Given the description of an element on the screen output the (x, y) to click on. 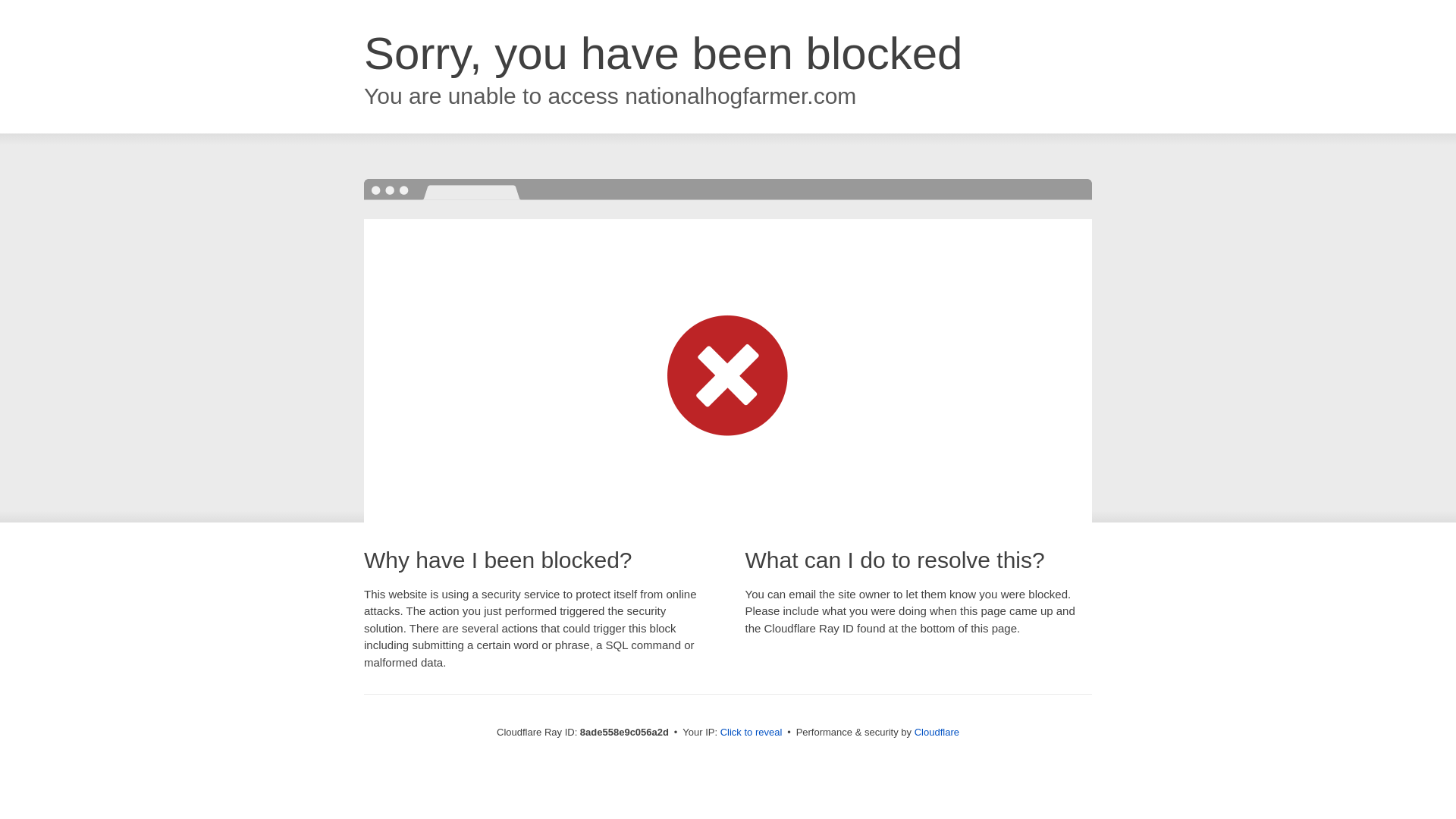
Click to reveal (751, 732)
Cloudflare (936, 731)
